Given the description of an element on the screen output the (x, y) to click on. 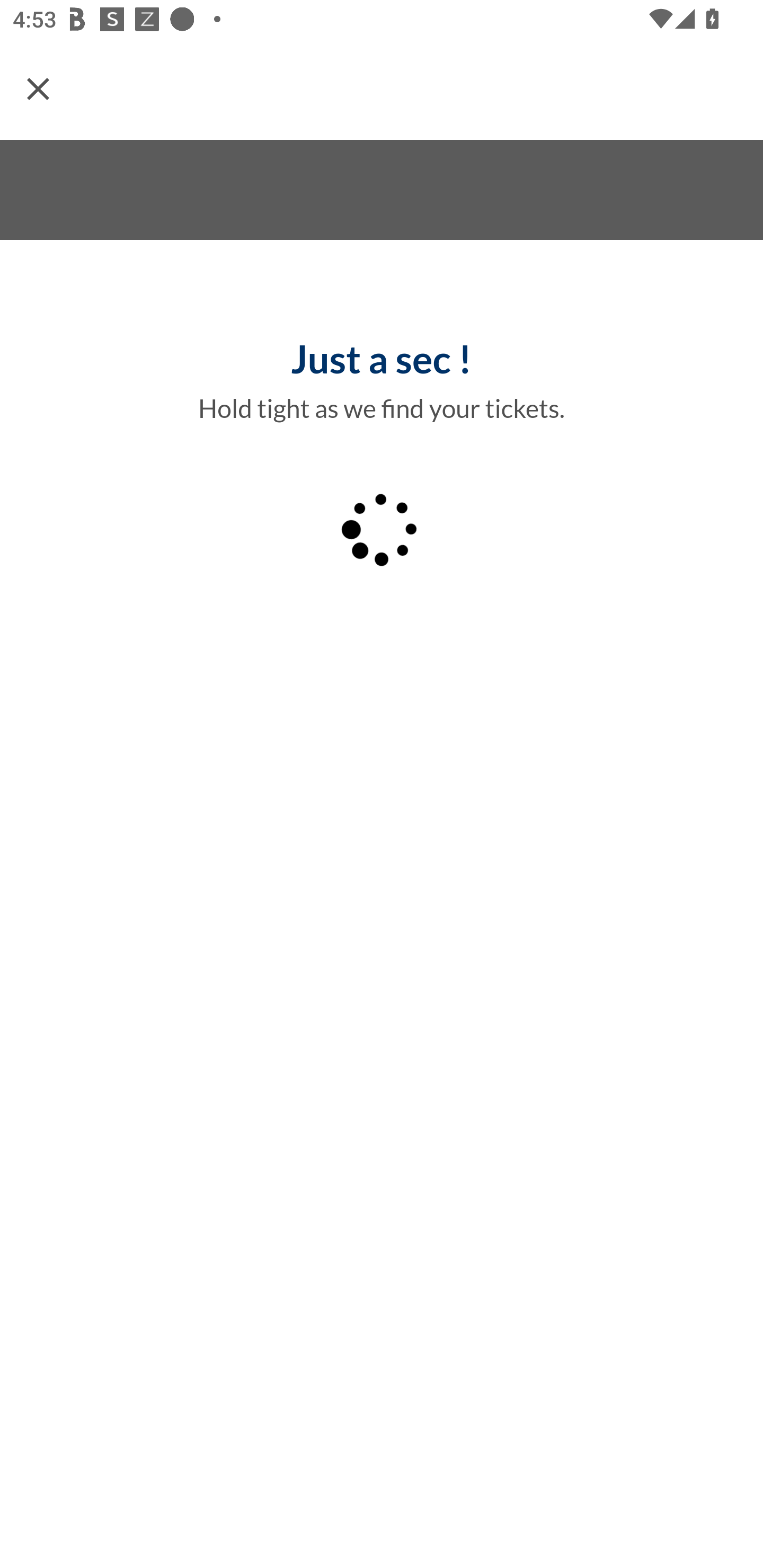
Close (38, 88)
